Given the description of an element on the screen output the (x, y) to click on. 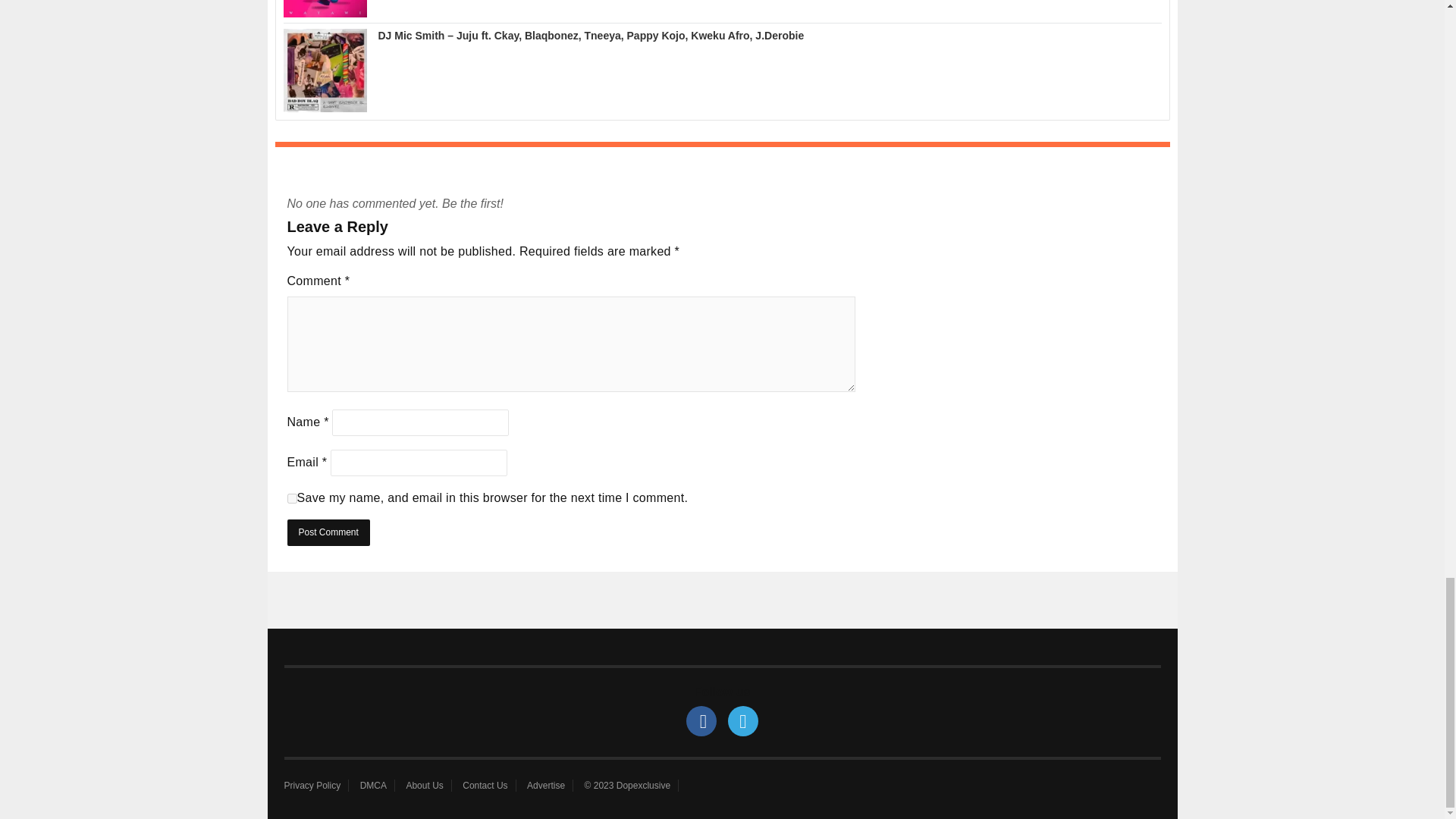
Post Comment (327, 532)
yes (291, 498)
